Given the description of an element on the screen output the (x, y) to click on. 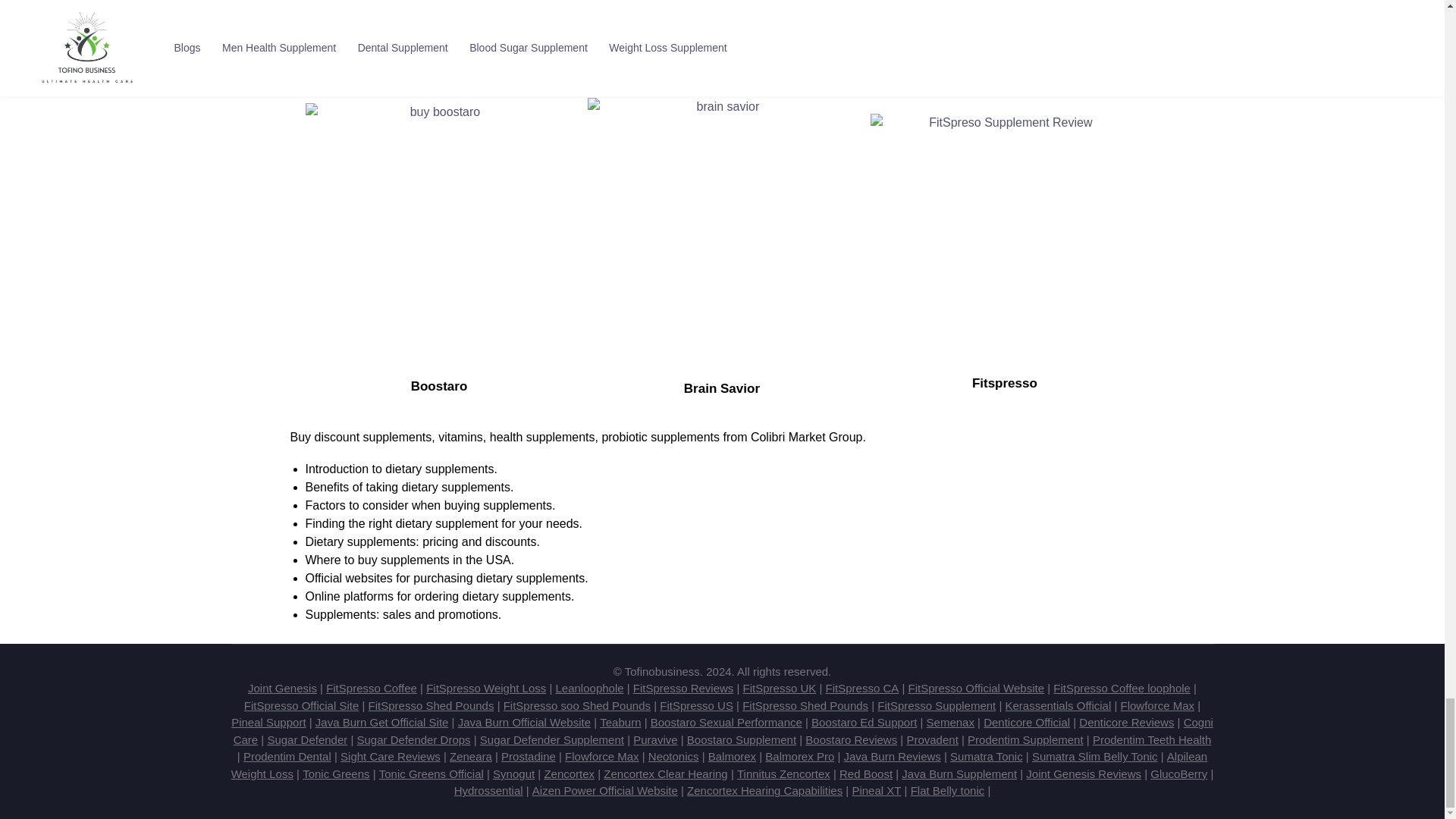
FitSpresso Weight Loss (486, 687)
FitSpresso CA (862, 687)
FitSpresso Coffee (371, 687)
FitSpresso Reviews (683, 687)
Leanloophole (588, 687)
FitSpresso UK (779, 687)
Joint Genesis (282, 687)
